Given the description of an element on the screen output the (x, y) to click on. 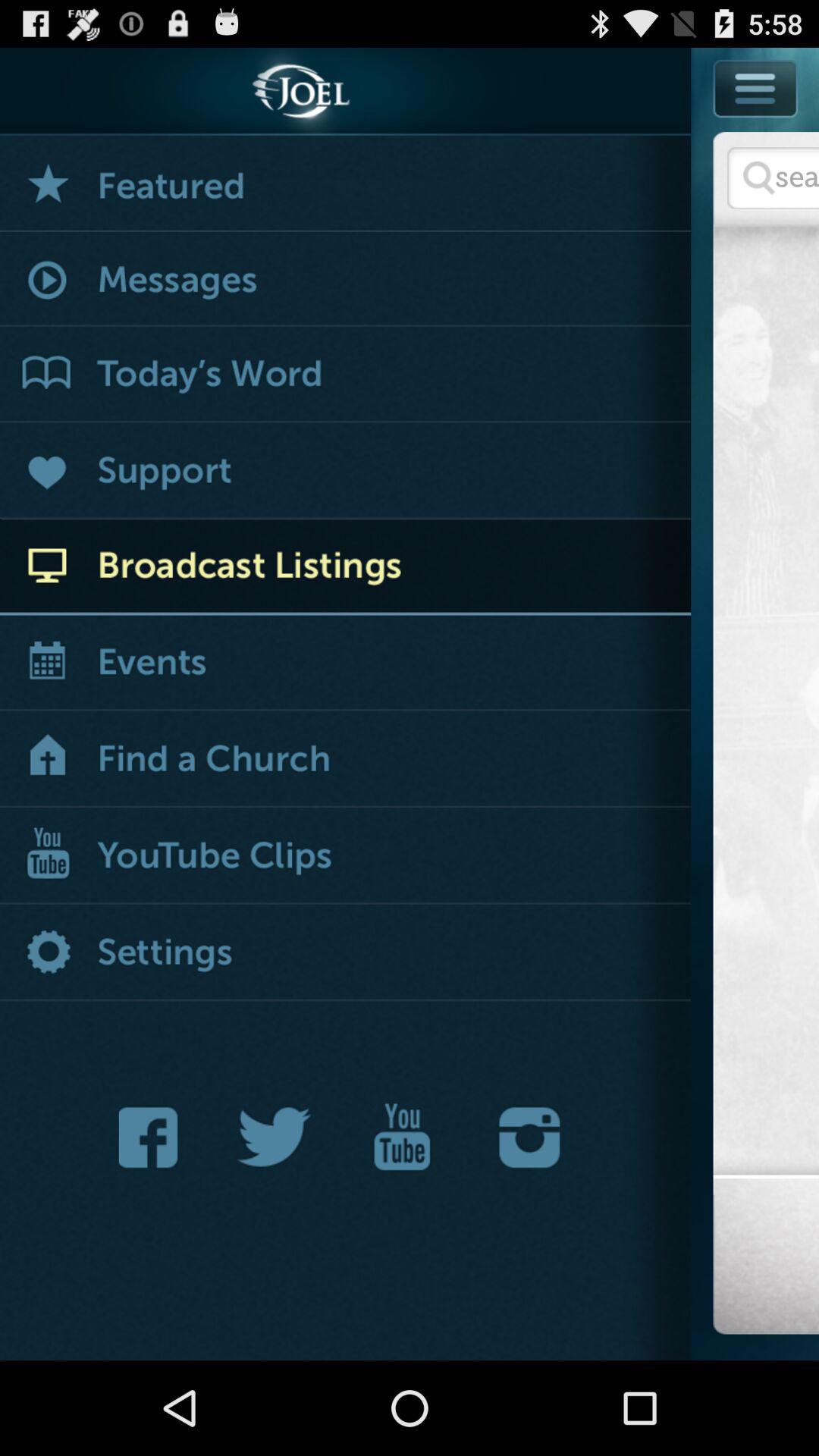
menu button (755, 122)
